Given the description of an element on the screen output the (x, y) to click on. 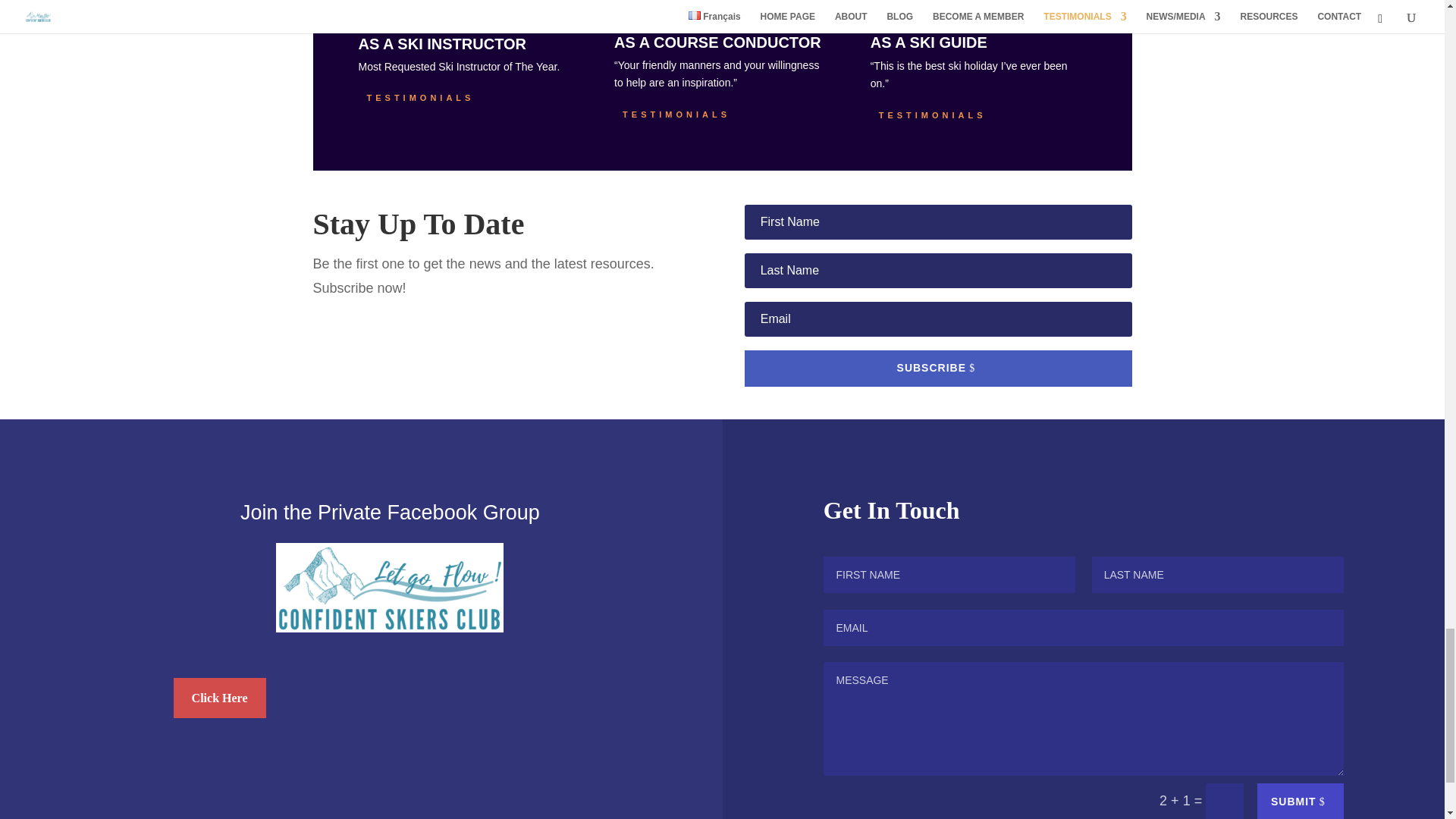
icons8-skiing-50 (633, 11)
icons8-ski-lift-60 (380, 12)
icons8-mountain-64 (894, 13)
TESTIMONIALS (419, 98)
